Given the description of an element on the screen output the (x, y) to click on. 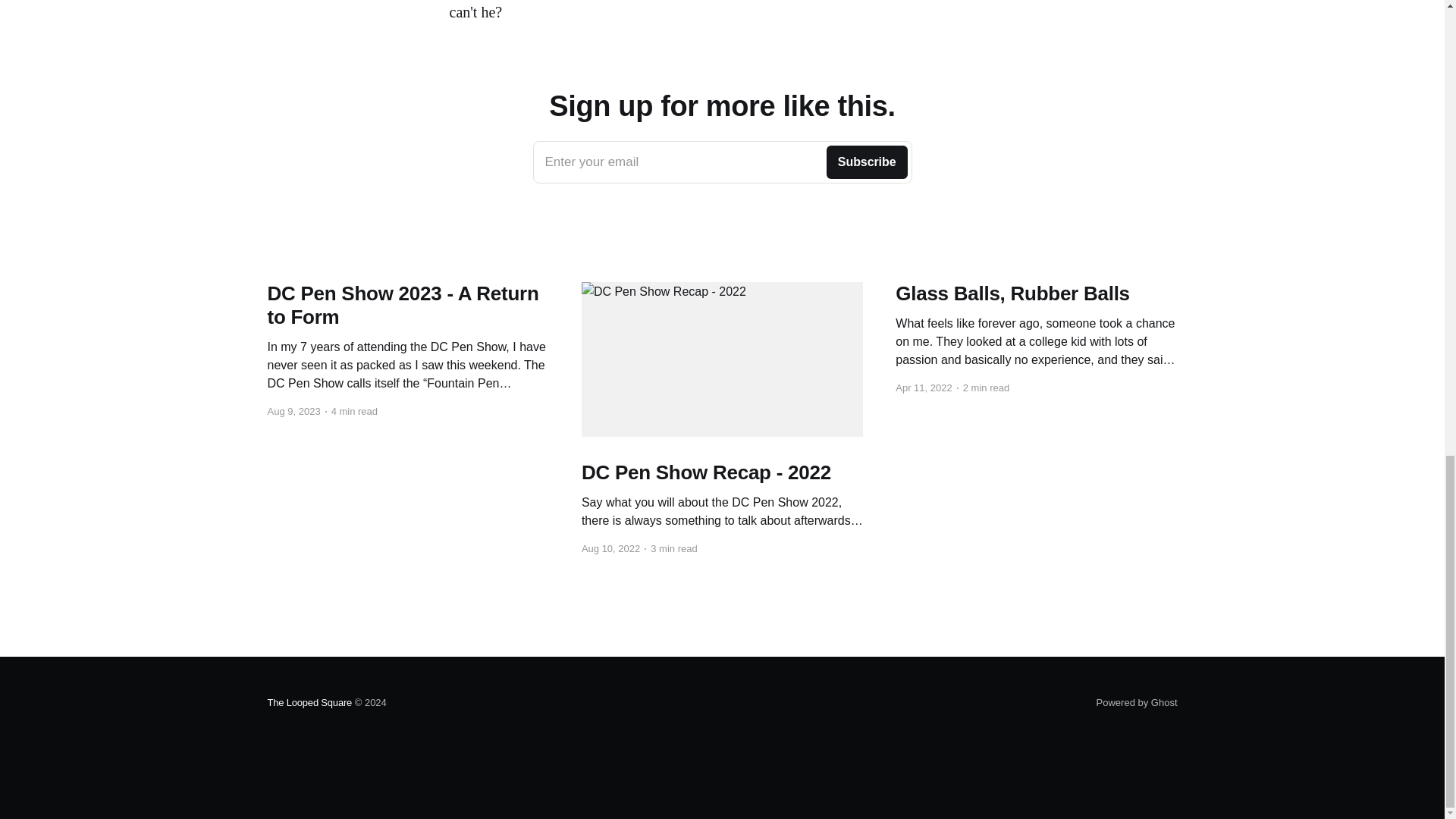
Powered by Ghost (1136, 702)
The Looped Square (309, 702)
